Given the description of an element on the screen output the (x, y) to click on. 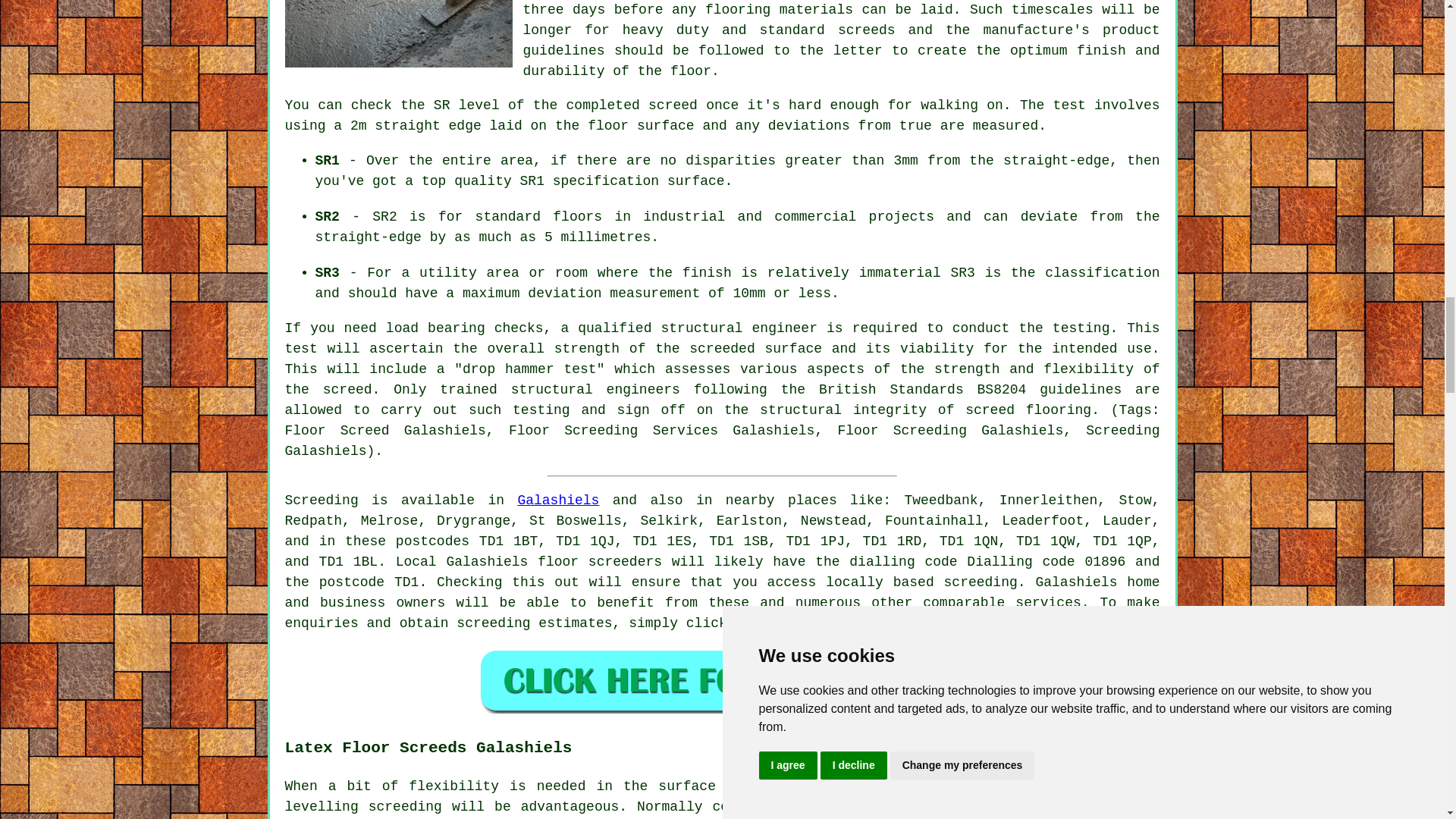
floor screeders (599, 561)
screeding (980, 581)
services (1047, 602)
Book a Screeder in Galashiels UK (722, 680)
